Given the description of an element on the screen output the (x, y) to click on. 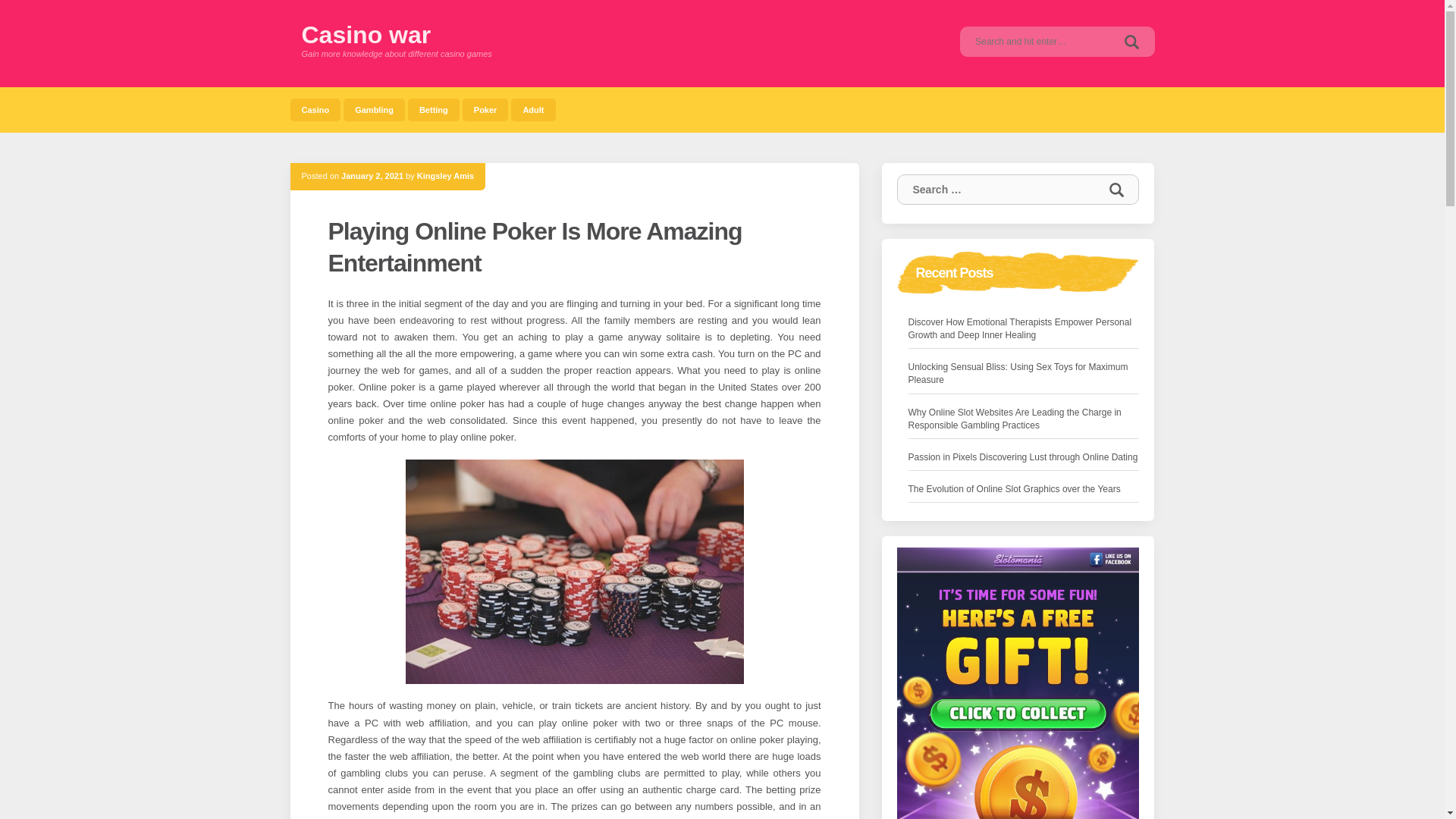
Search (1131, 41)
Search (1131, 41)
Passion in Pixels Discovering Lust through Online Dating (1023, 457)
Search (1115, 189)
The Evolution of Online Slot Graphics over the Years (1014, 489)
Adult (532, 109)
January 2, 2021 (371, 175)
Gambling (373, 109)
Search (1131, 41)
Betting (433, 109)
Kingsley Amis (445, 175)
Search (1115, 189)
Poker (485, 109)
Casino war (365, 34)
